Given the description of an element on the screen output the (x, y) to click on. 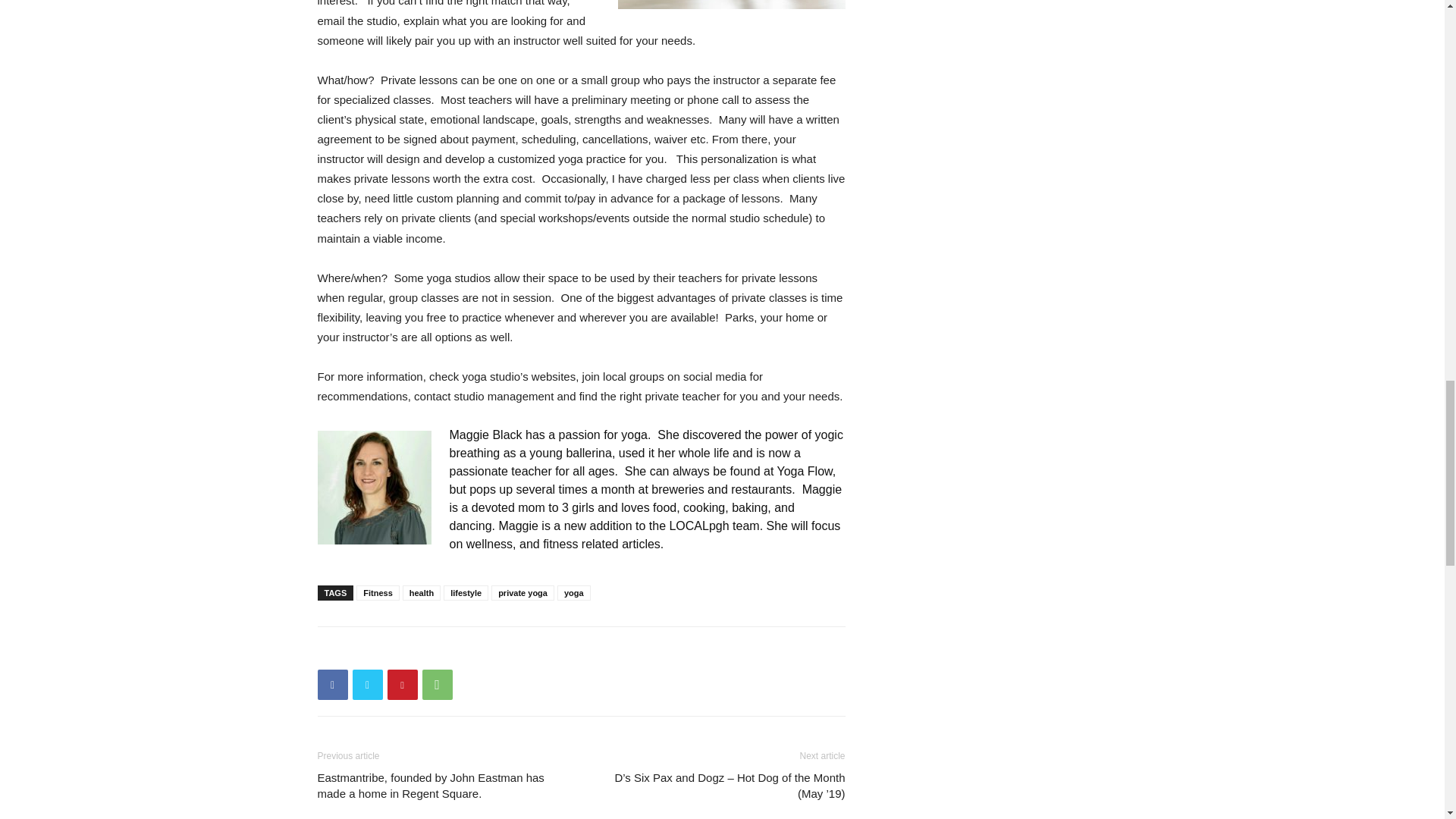
Facebook (332, 684)
bottomFacebookLike (430, 650)
Twitter (366, 684)
